Given the description of an element on the screen output the (x, y) to click on. 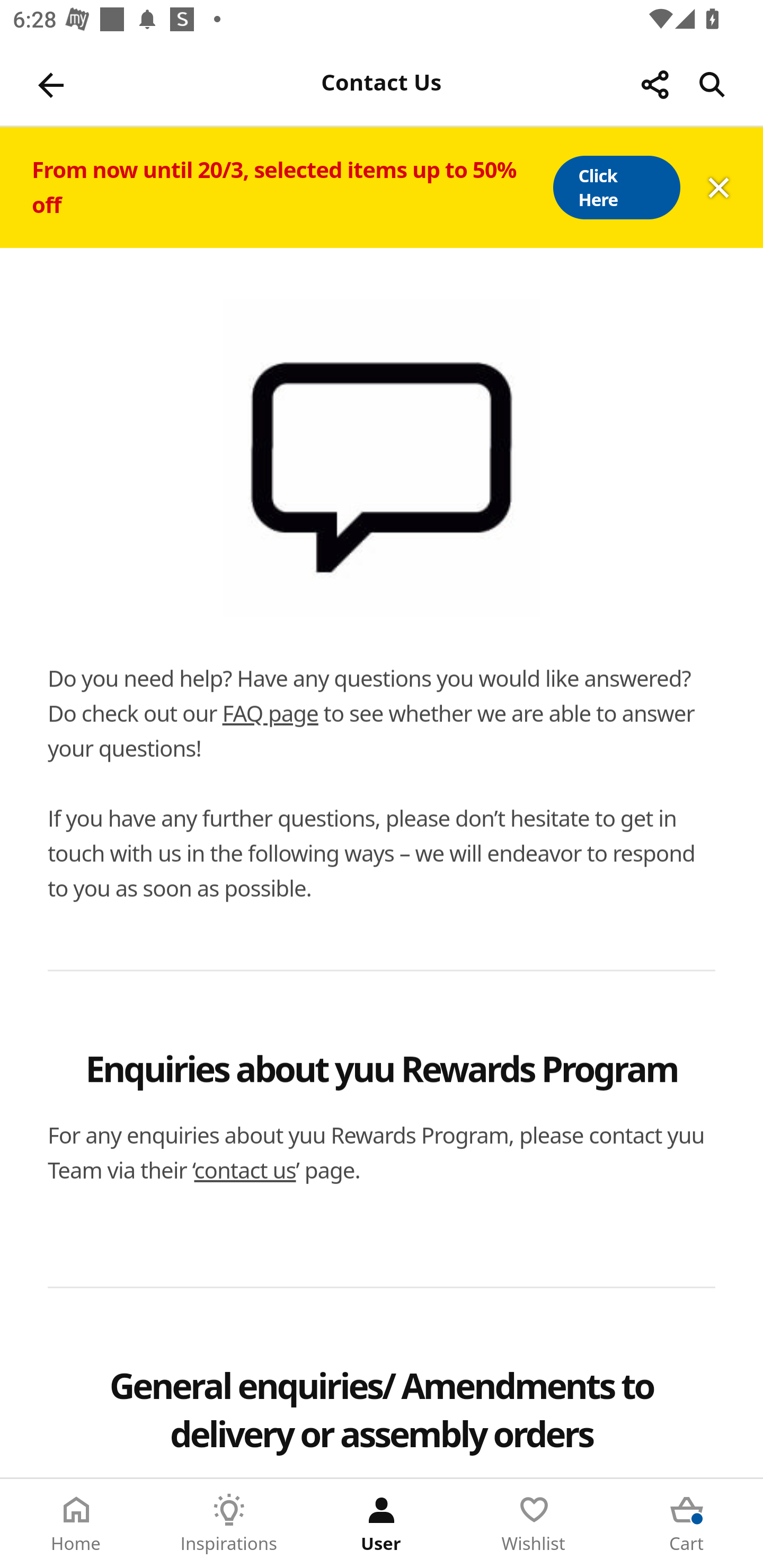
Click Here (615, 187)
FAQ page (270, 713)
contact us (245, 1169)
Home
Tab 1 of 5 (76, 1522)
Inspirations
Tab 2 of 5 (228, 1522)
User
Tab 3 of 5 (381, 1522)
Wishlist
Tab 4 of 5 (533, 1522)
Cart
Tab 5 of 5 (686, 1522)
